Given the description of an element on the screen output the (x, y) to click on. 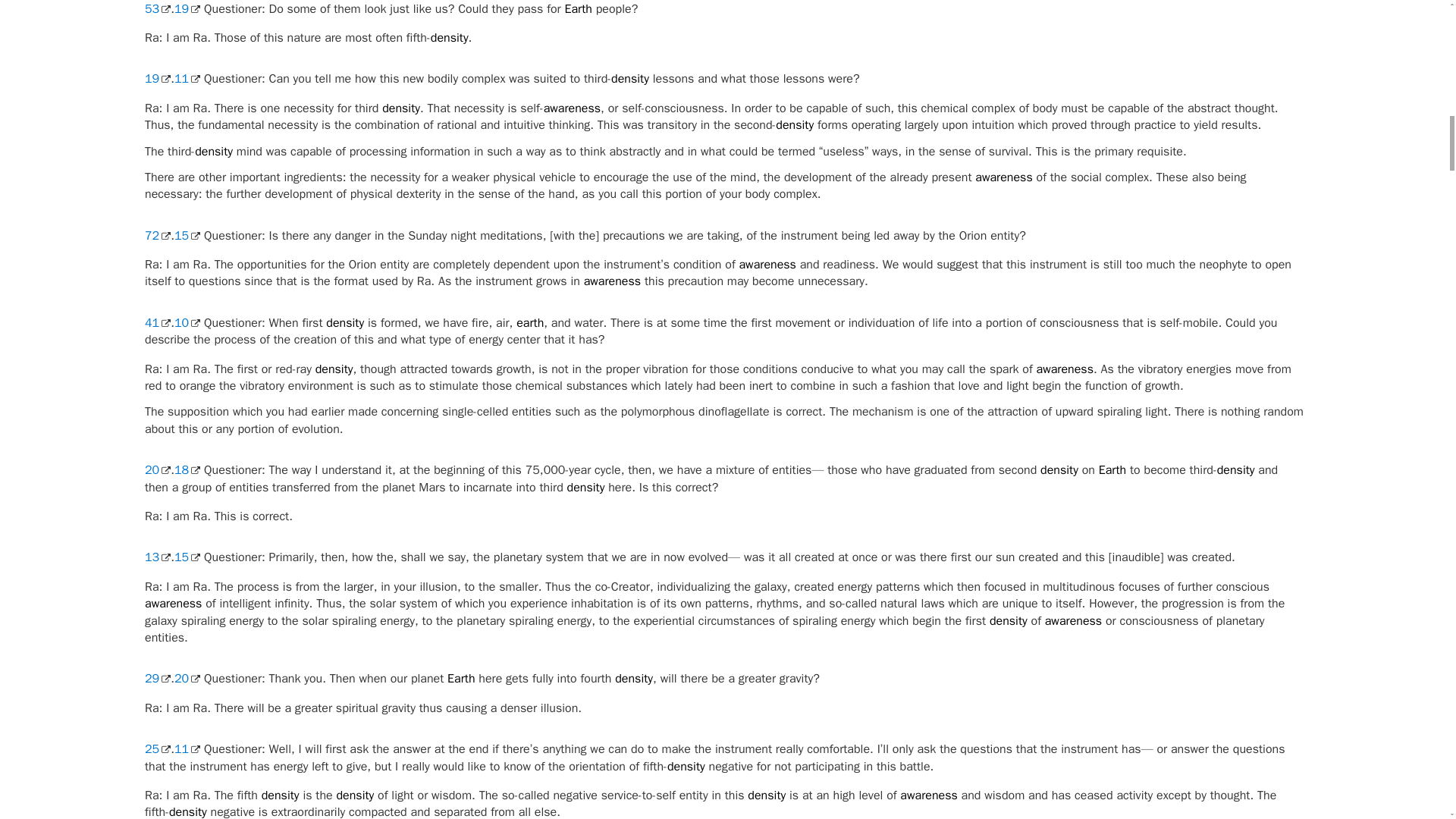
53 (157, 8)
11 (187, 78)
19 (187, 8)
19 (157, 78)
